Given the description of an element on the screen output the (x, y) to click on. 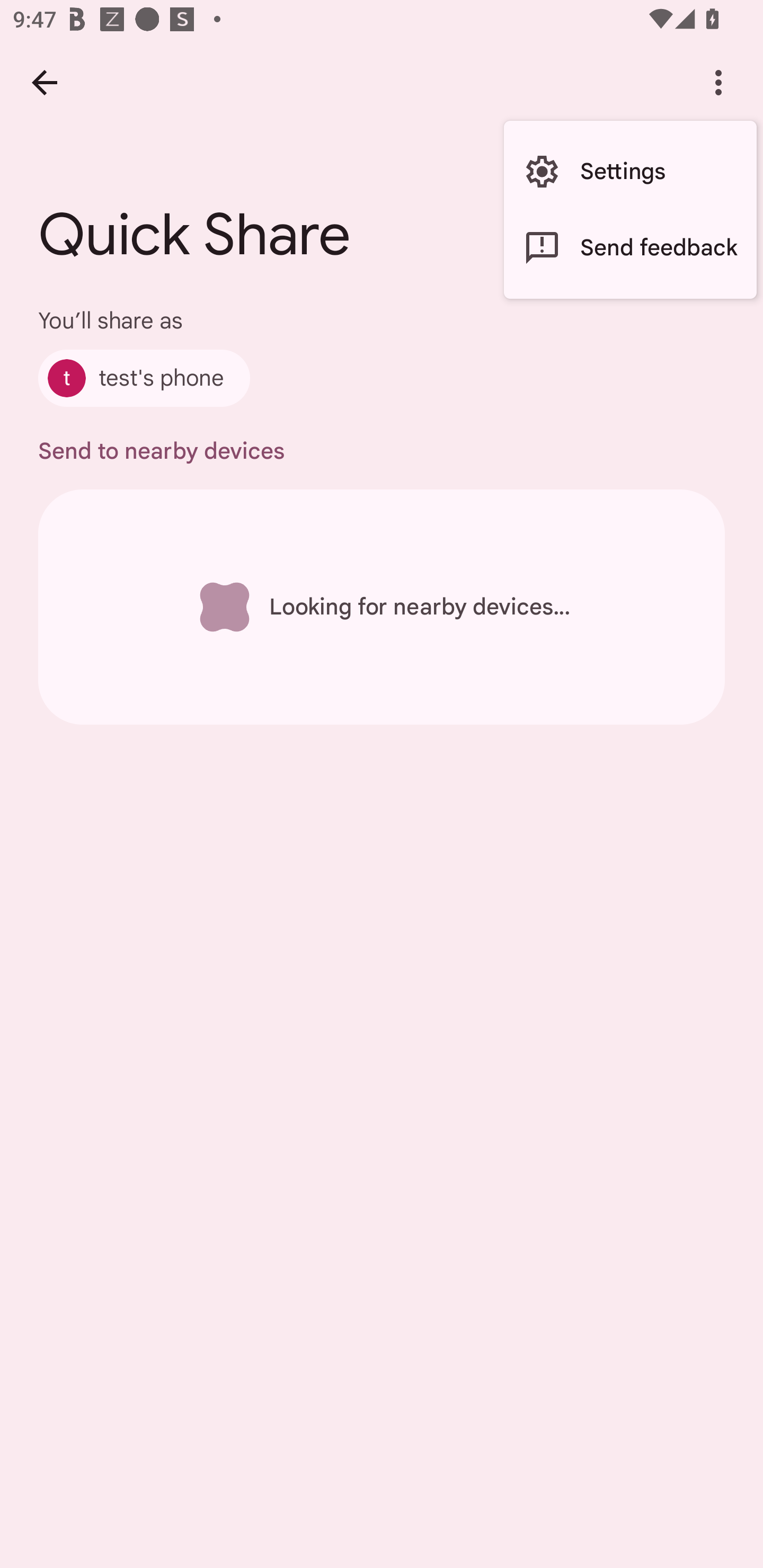
Settings (629, 171)
Send feedback (629, 247)
